Given the description of an element on the screen output the (x, y) to click on. 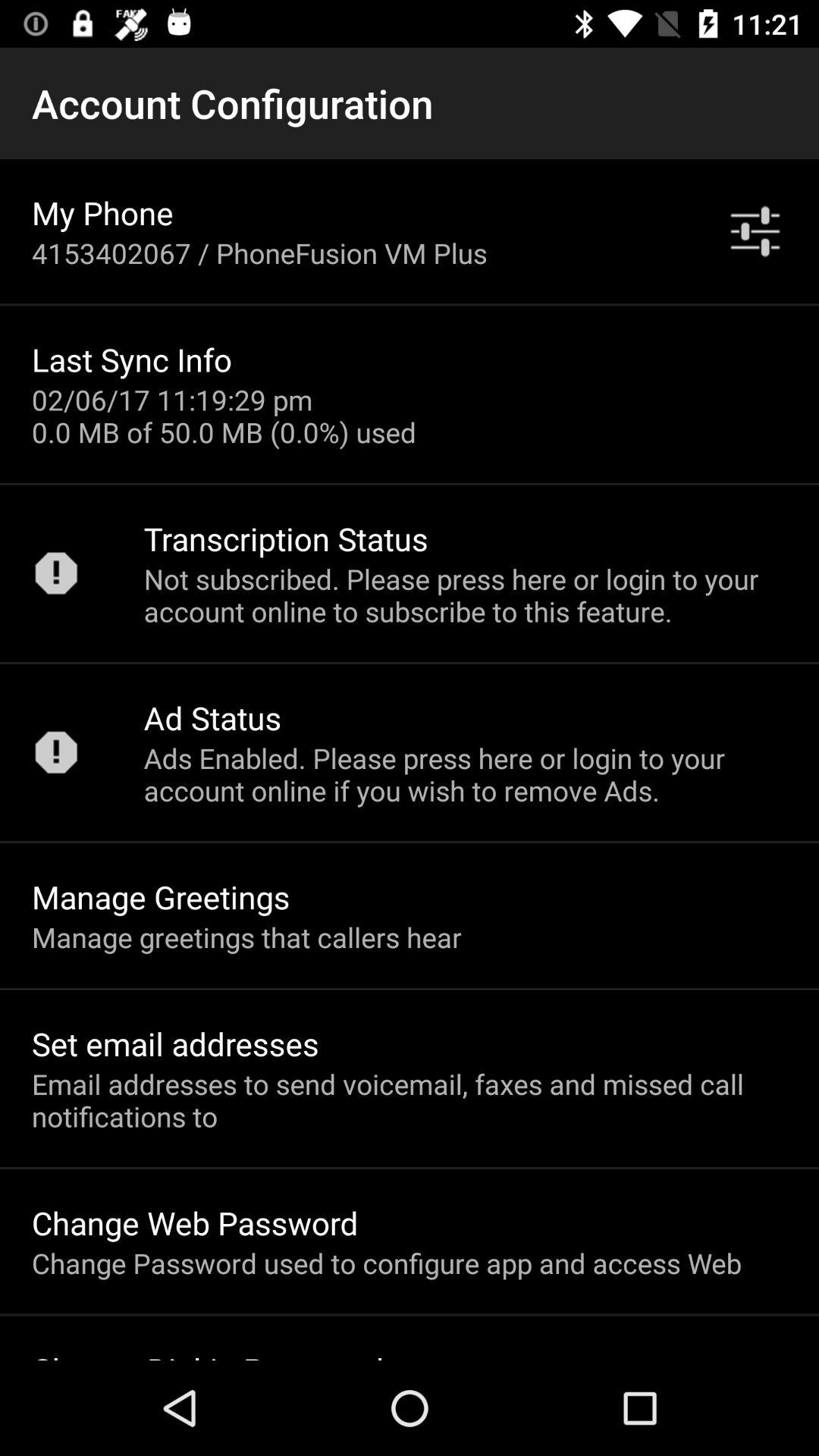
open the ad status app (212, 717)
